Given the description of an element on the screen output the (x, y) to click on. 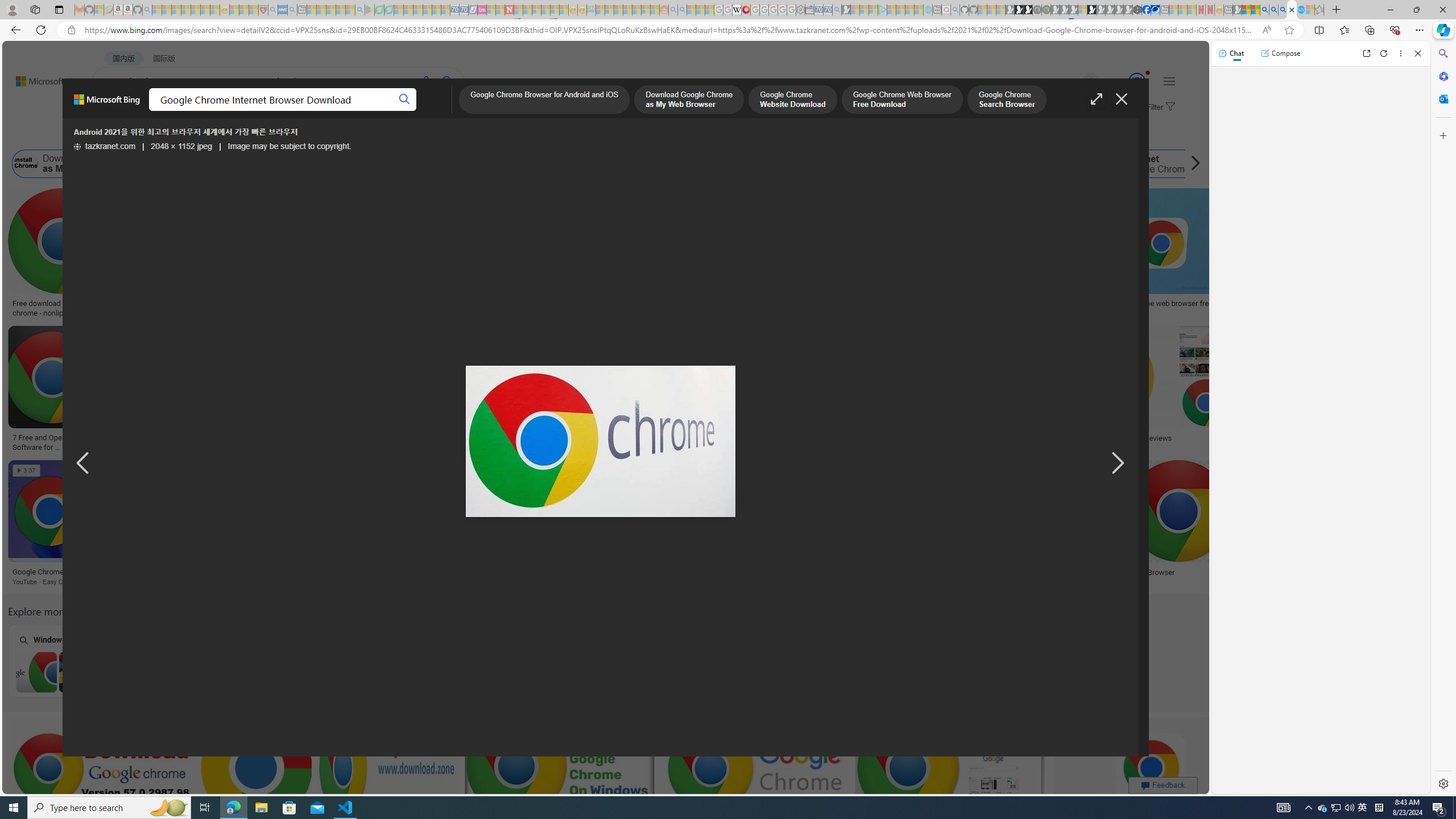
Chrome Browser Download Apk for PC Windows 10 (661, 671)
How to download & install Chrome on Windows 10 /11 (997, 303)
Google web browser download chrome - kizacareers (723, 441)
Animation (1147, 72)
Latest Google Chrome Free Download (857, 163)
Google Chrome Web Browser Free Download (378, 163)
Internet Explorer (224, 660)
